Given the description of an element on the screen output the (x, y) to click on. 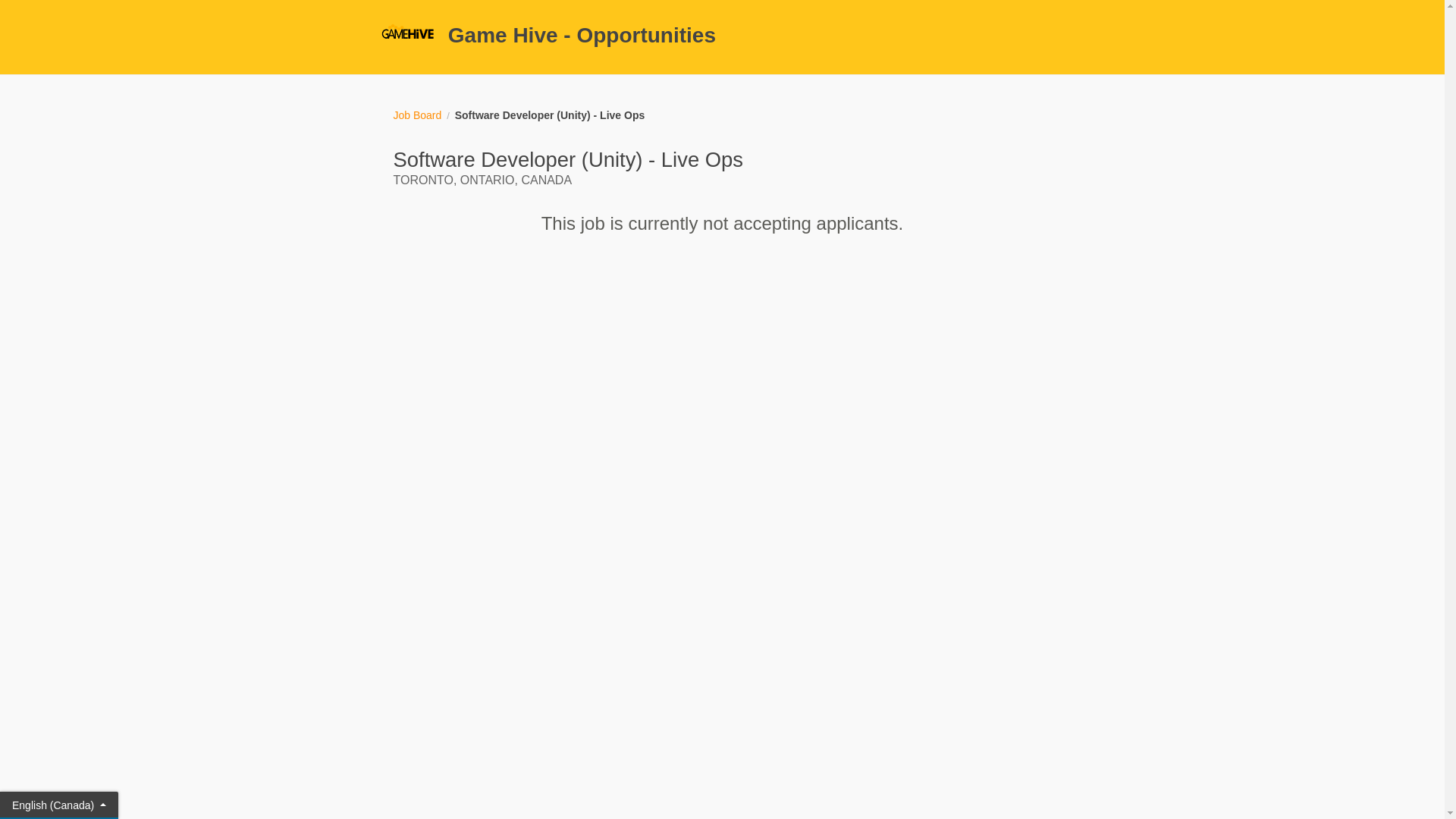
Job Board Element type: text (416, 114)
Game Hive - Opportunities Element type: text (722, 35)
